Given the description of an element on the screen output the (x, y) to click on. 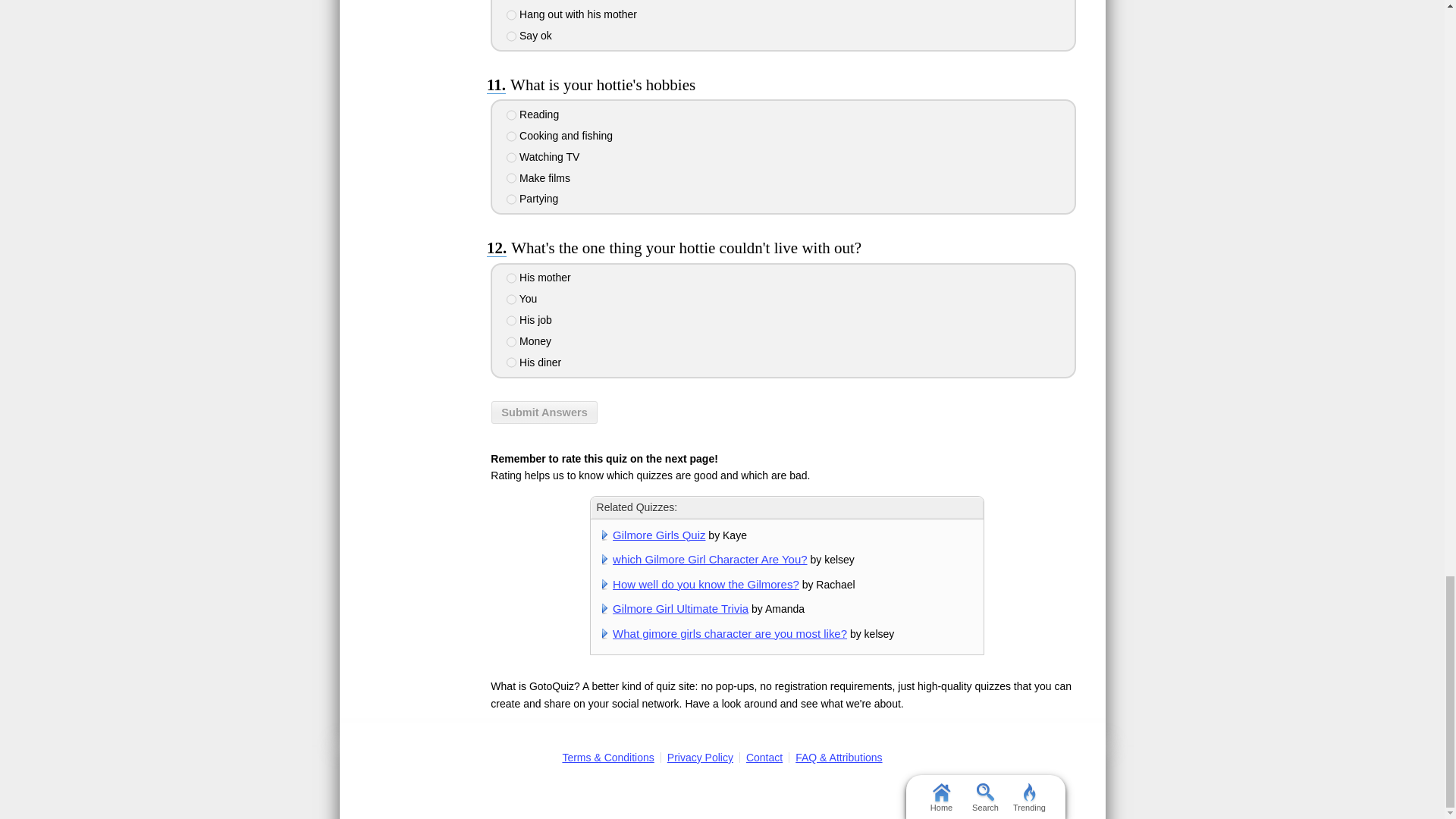
What gimore girls character are you most like? (729, 633)
Submit Answers (544, 412)
Gilmore Girl Ultimate Trivia (680, 608)
How well do you know the Gilmores? (705, 584)
which Gilmore Girl Character Are You? (710, 558)
Gilmore Girls Quiz (658, 534)
Privacy Policy (699, 757)
Contact (764, 757)
